Given the description of an element on the screen output the (x, y) to click on. 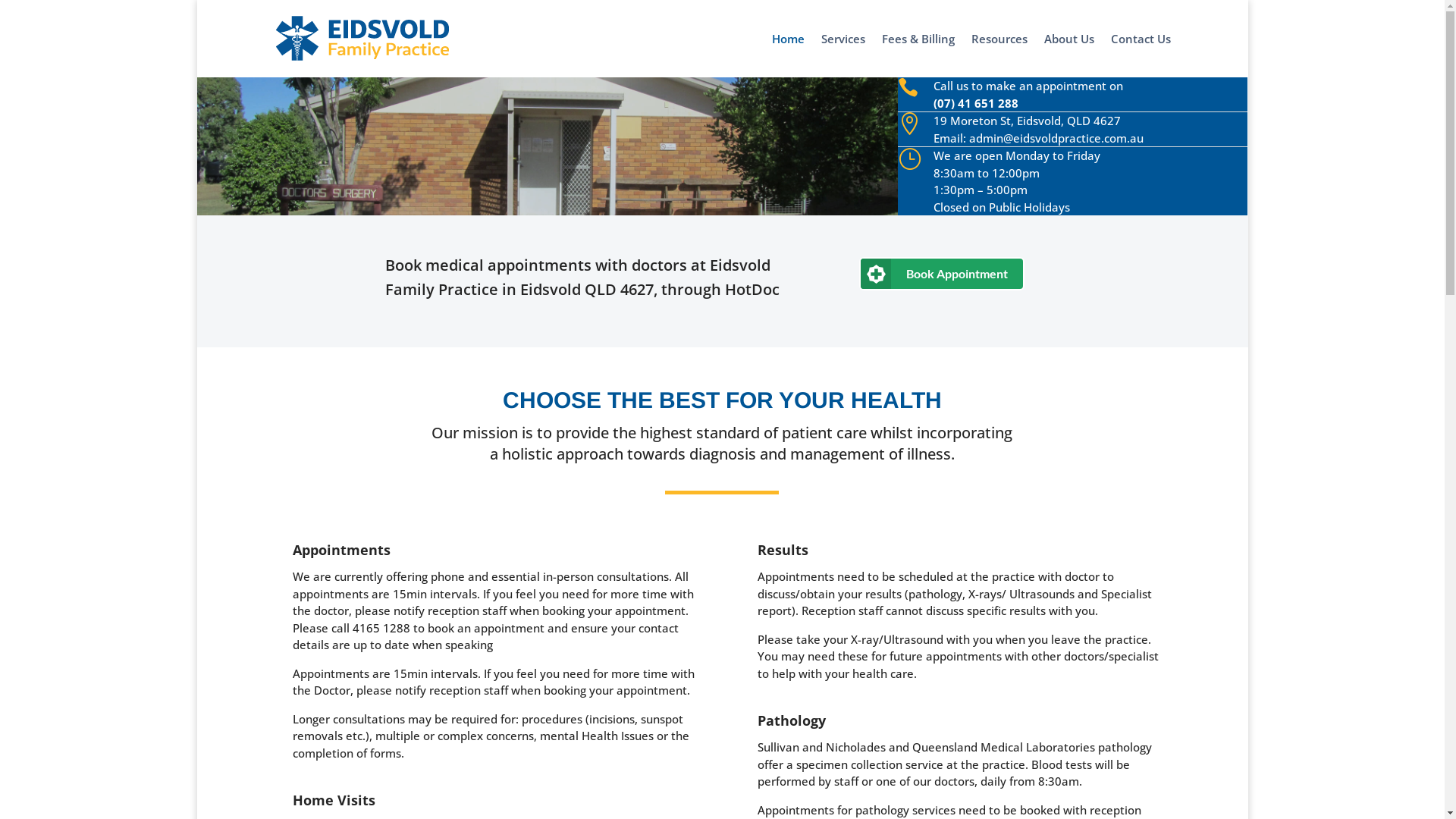
Resources Element type: text (999, 55)
Services Element type: text (843, 55)
Contact Us Element type: text (1140, 55)
About Us Element type: text (1069, 55)
Book Appointment Element type: text (941, 273)
Home Element type: text (787, 55)
Fees & Billing Element type: text (917, 55)
